Given the description of an element on the screen output the (x, y) to click on. 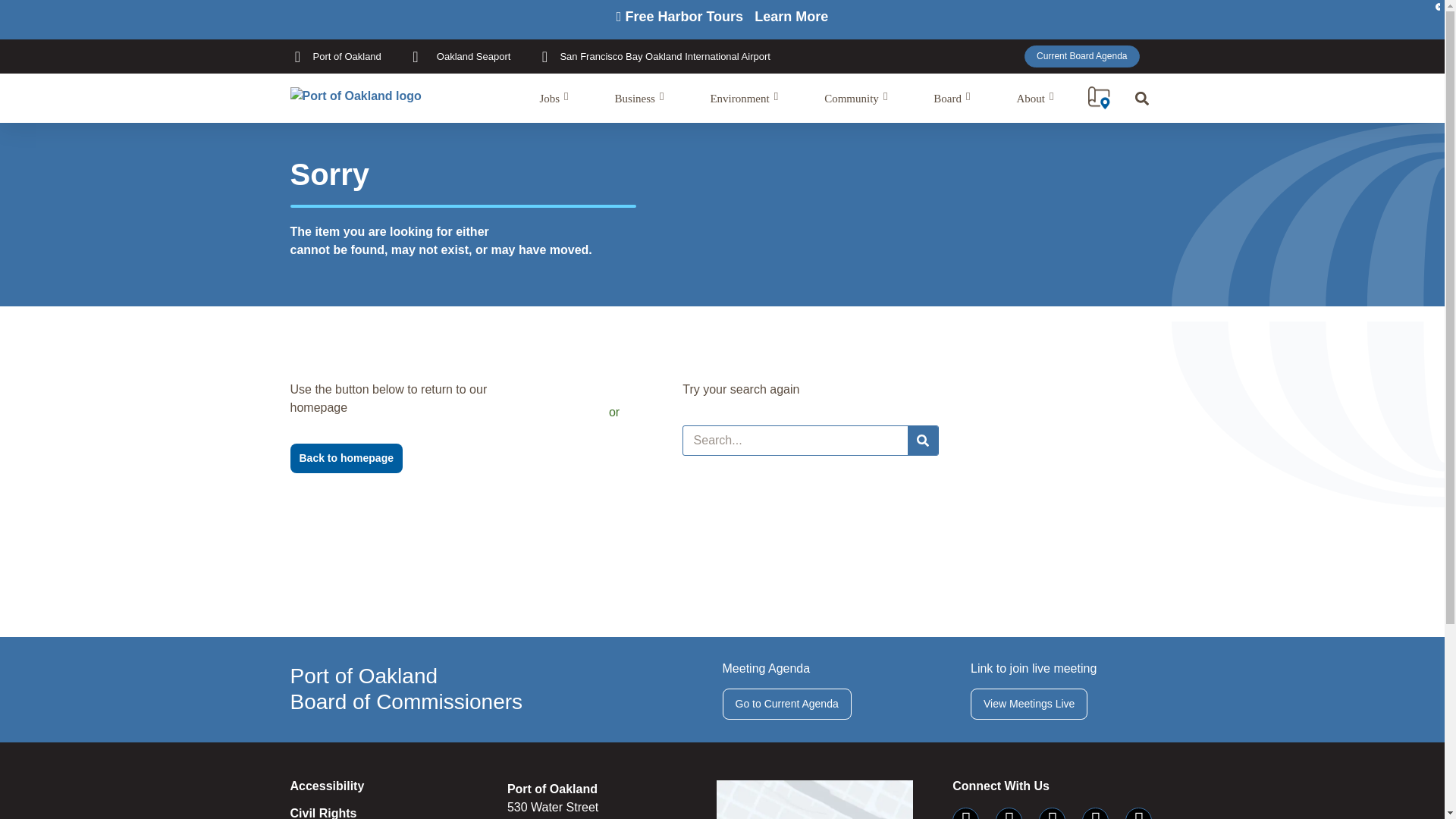
Oakland Seaport (459, 56)
Learn More (791, 16)
Current Board Agenda (1081, 56)
Port of Oakland (334, 56)
San Francisco Bay Oakland International Airport (653, 56)
